Given the description of an element on the screen output the (x, y) to click on. 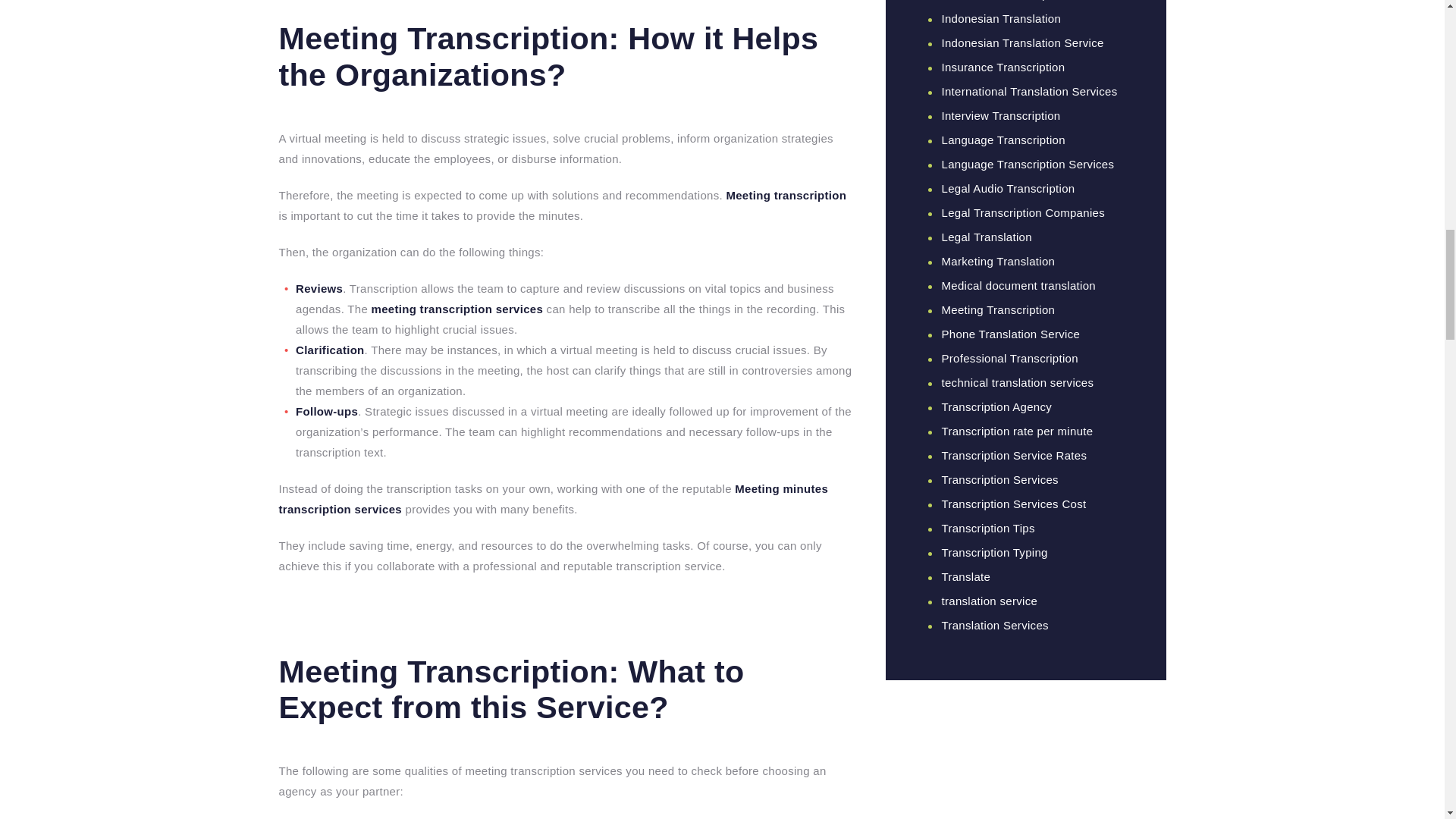
Meeting minutes transcription services (553, 498)
meeting transcription services (457, 308)
Meeting transcription (785, 195)
